Given the description of an element on the screen output the (x, y) to click on. 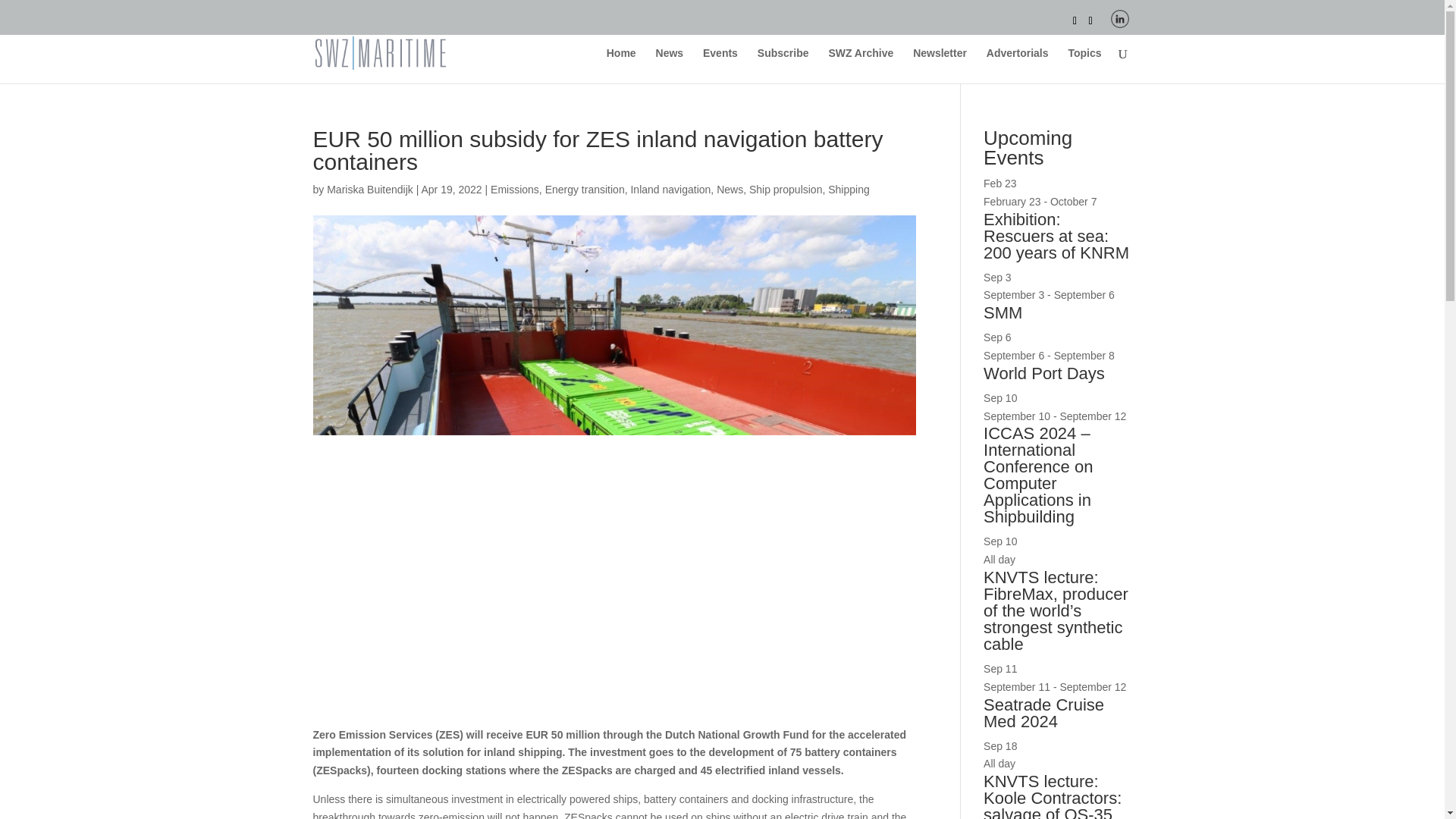
Exhibition: Rescuers at sea: 200 years of KNRM (1056, 235)
Events (720, 65)
Energy transition (584, 189)
Newsletter (939, 65)
Advertorials (1017, 65)
World Port Days (1044, 373)
World Port Days (1044, 373)
News (729, 189)
SMM (1003, 312)
